Given the description of an element on the screen output the (x, y) to click on. 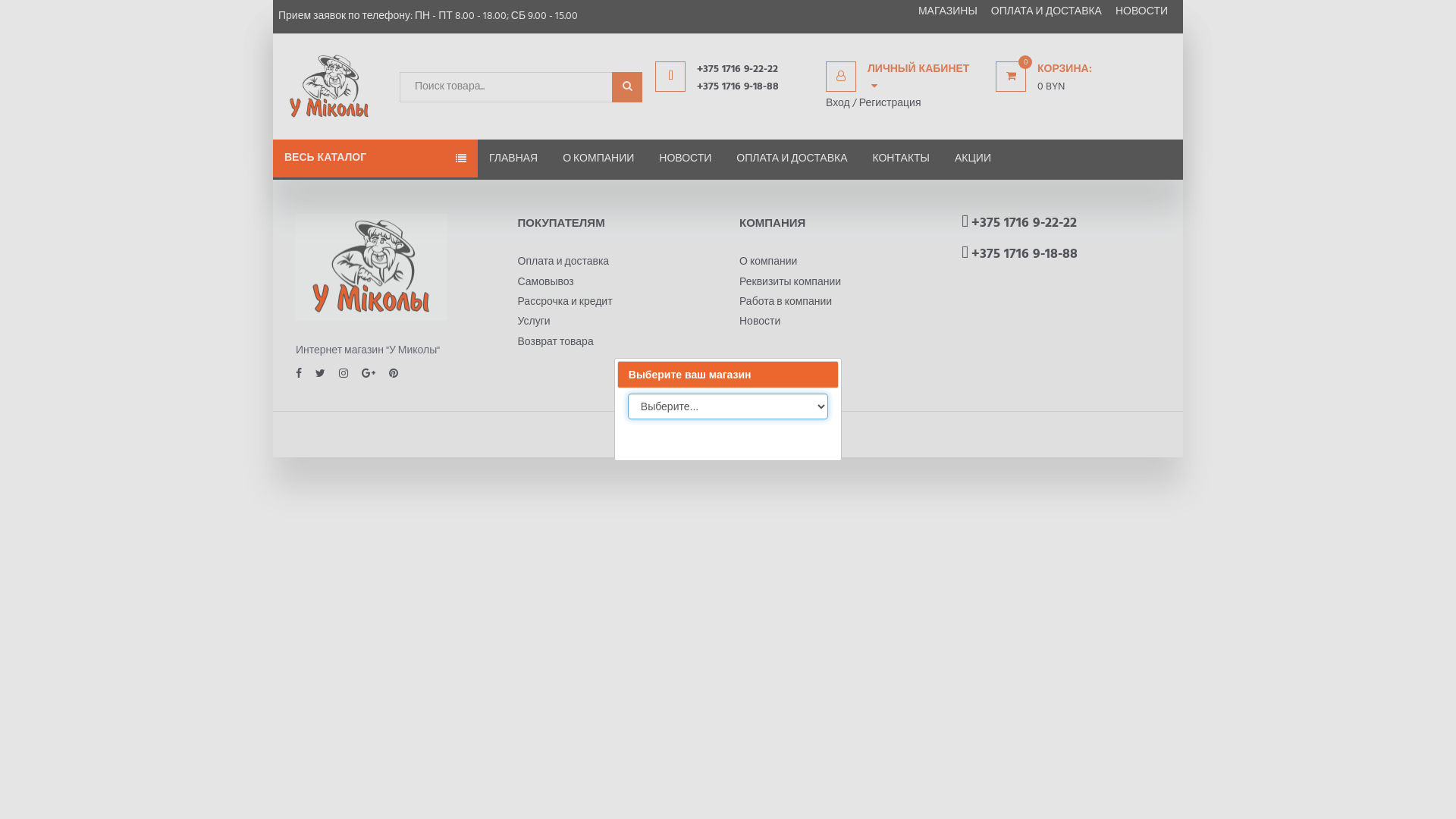
+375 1716 9-22-22 Element type: text (1023, 223)
+375 1716 9-18-88 Element type: text (1023, 254)
+375 1716 9-22-22 Element type: text (754, 69)
+375 1716 9-18-88 Element type: text (754, 86)
